Given the description of an element on the screen output the (x, y) to click on. 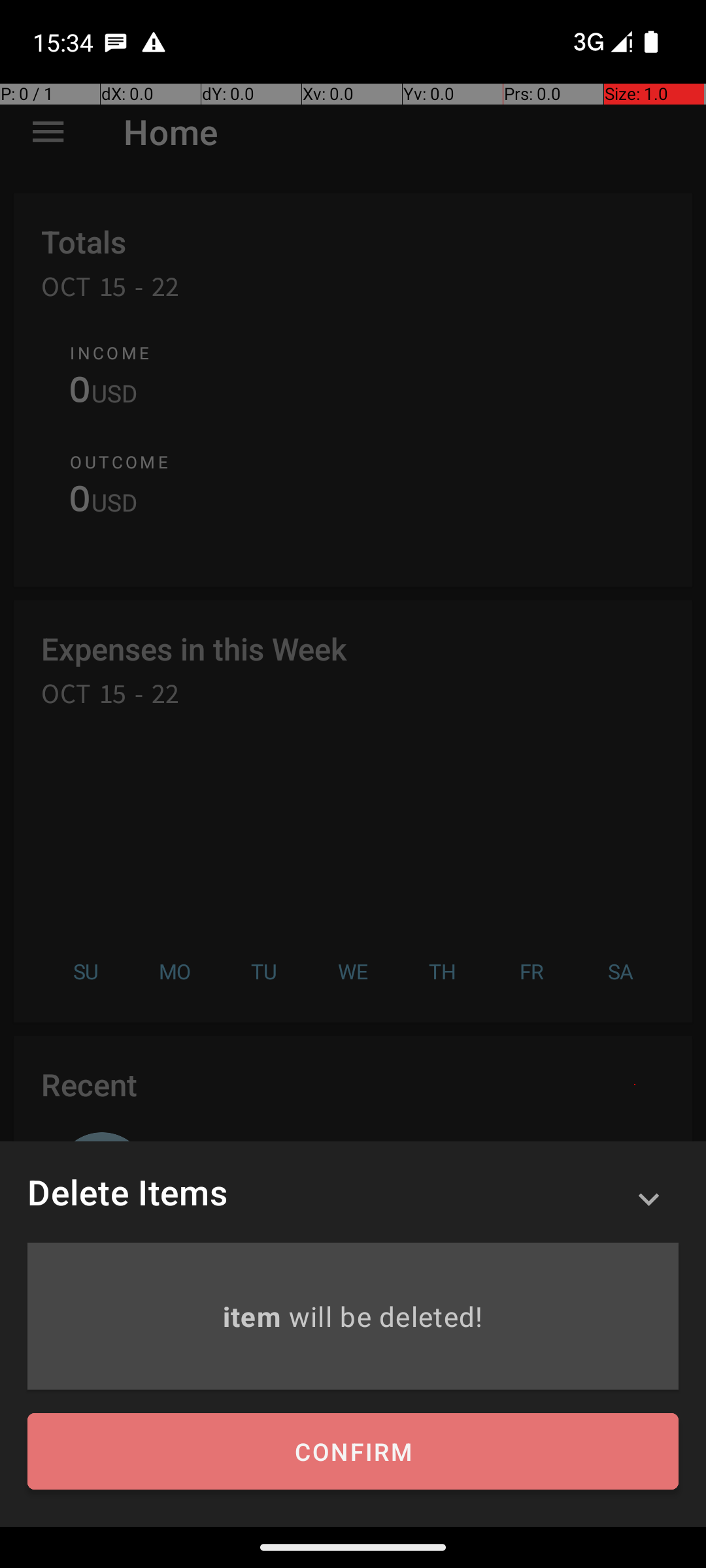
Delete Items Element type: android.widget.TextView (127, 1191)
item  Element type: android.widget.TextView (255, 1315)
will be deleted! Element type: android.widget.TextView (385, 1315)
CONFIRM Element type: android.widget.Button (352, 1451)
